Given the description of an element on the screen output the (x, y) to click on. 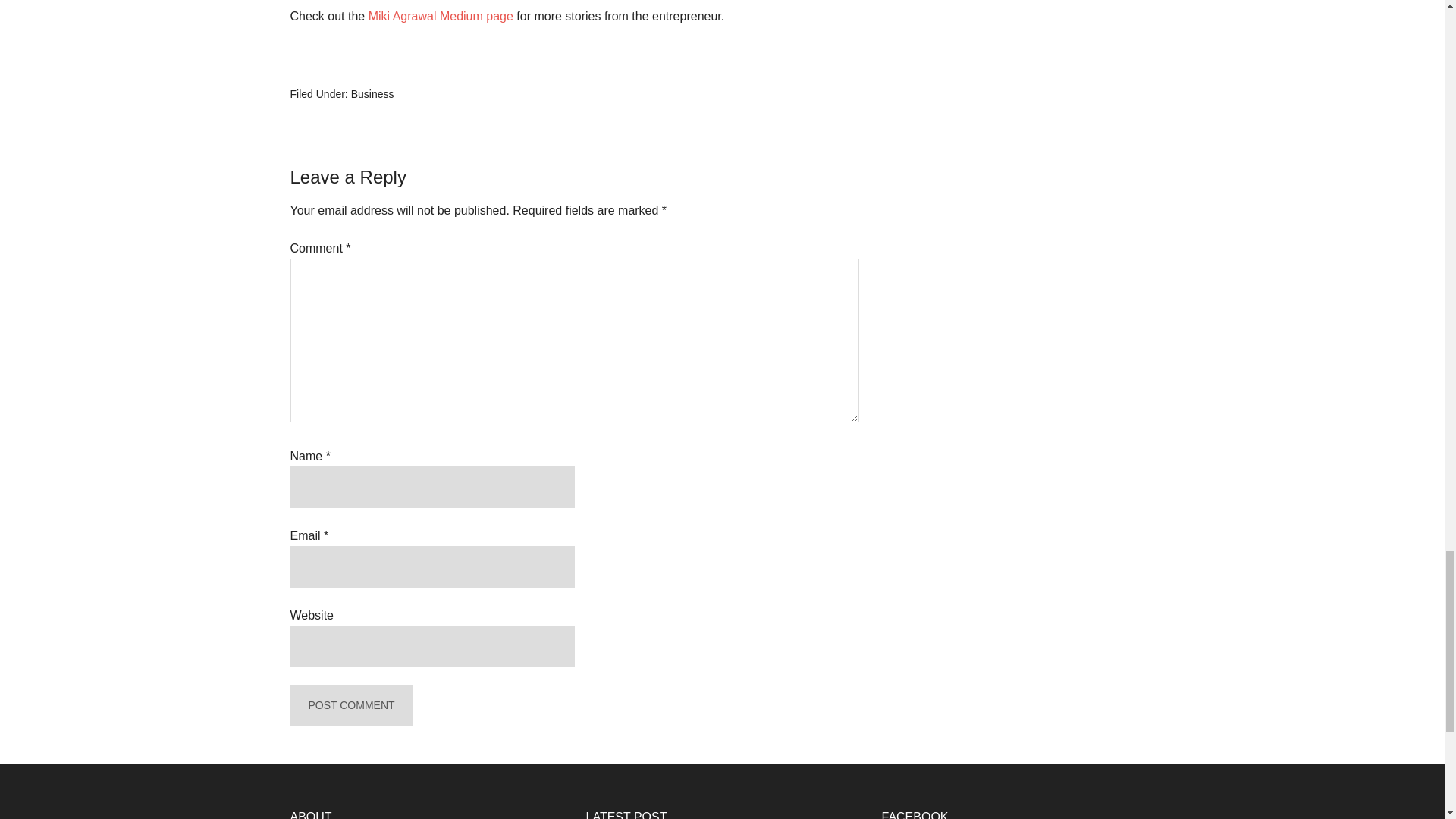
Miki Agrawal Medium page (440, 15)
Post Comment (350, 705)
Post Comment (350, 705)
Business (372, 93)
